Given the description of an element on the screen output the (x, y) to click on. 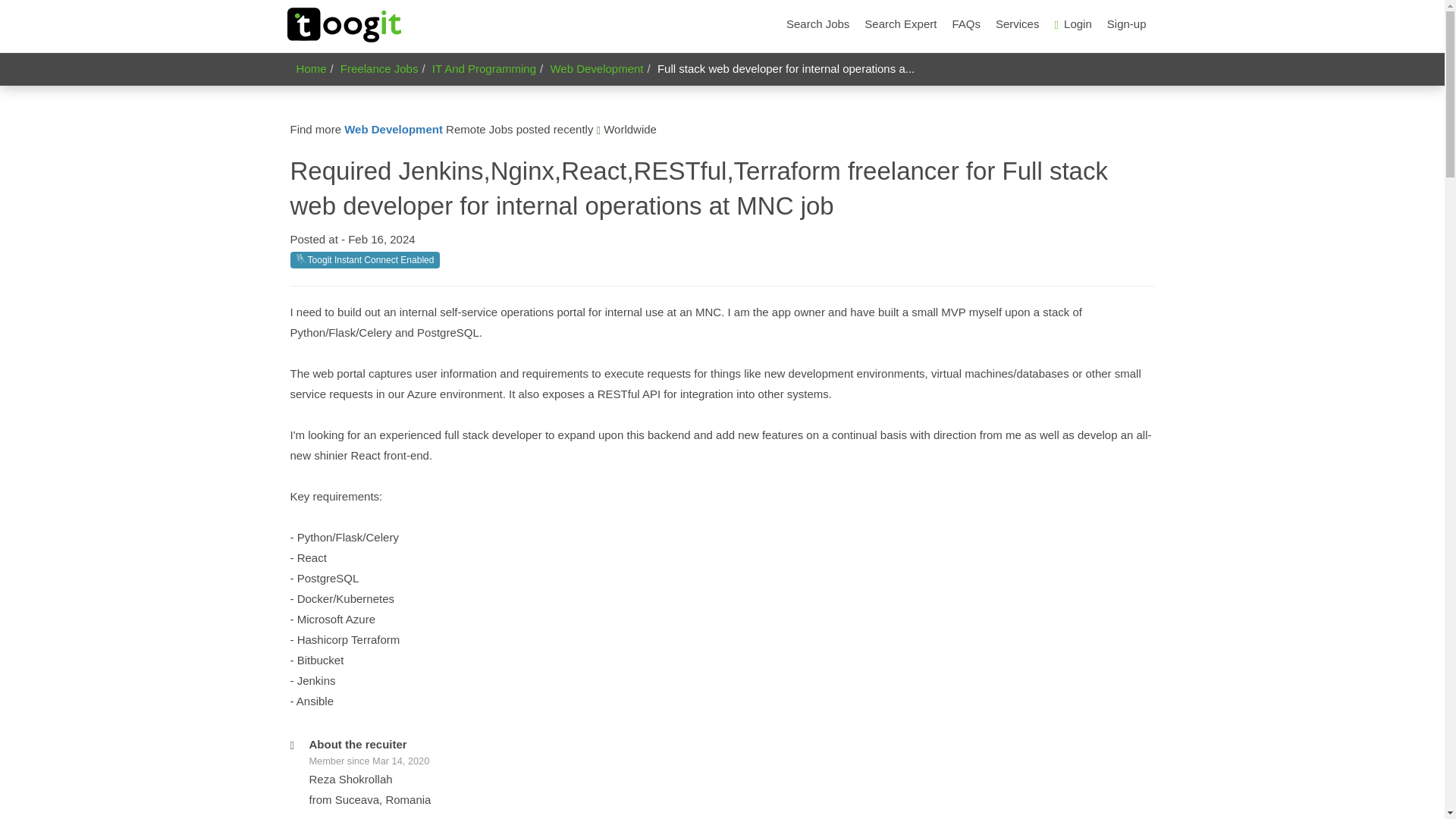
Search Jobs (817, 23)
Web Development (596, 68)
Find More Web Development Remote Jobs (392, 128)
Web Development (392, 128)
Search Expert (900, 23)
FAQs (965, 23)
IT And Programming (483, 68)
Sign-up (1126, 23)
Home (310, 68)
Services (1017, 23)
Login (1072, 23)
Freelance Jobs (379, 68)
